Given the description of an element on the screen output the (x, y) to click on. 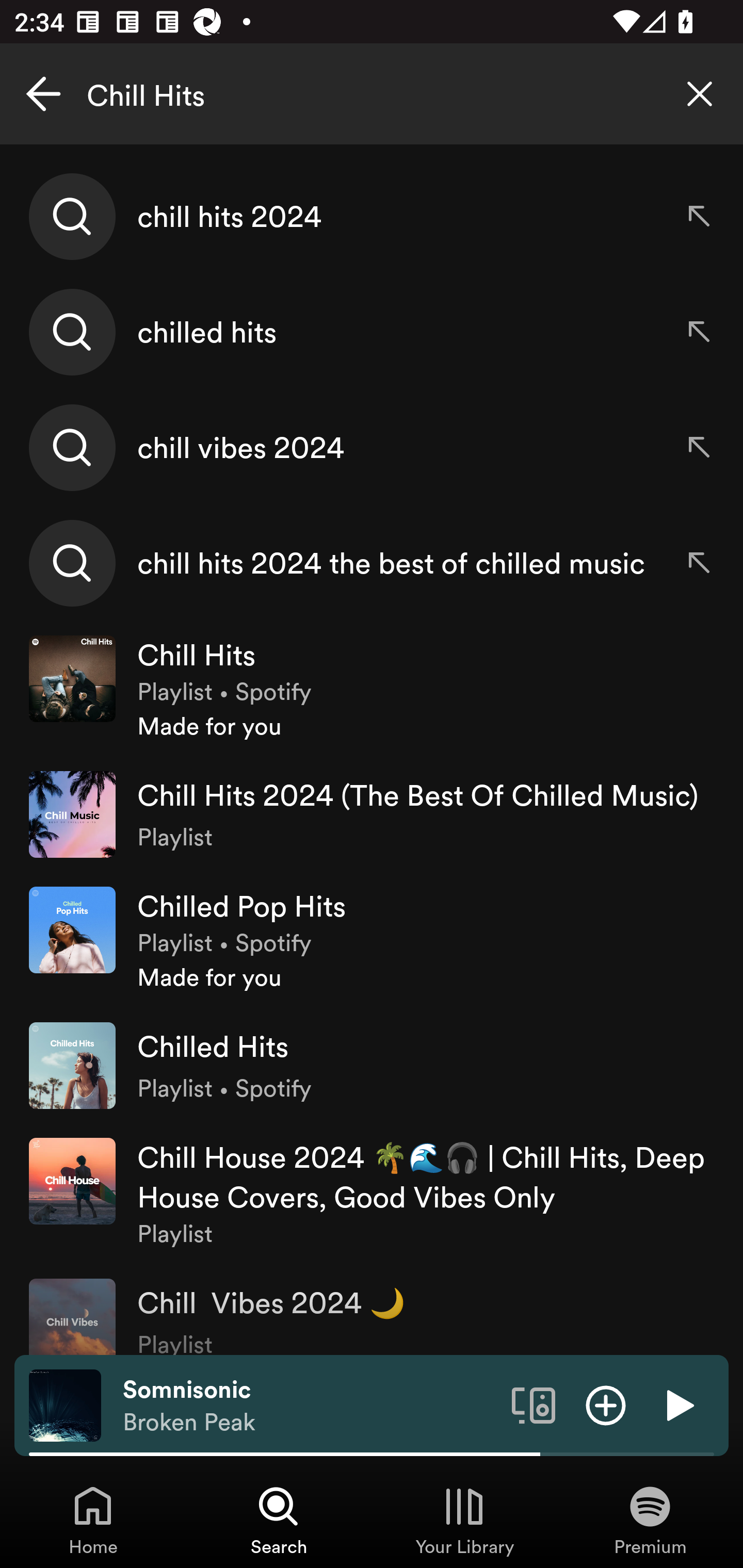
Chill Hits (371, 93)
Cancel (43, 93)
Clear search query (699, 93)
chill hits 2024 (371, 216)
chilled hits (371, 332)
chill vibes 2024 (371, 447)
chill hits 2024 the best of chilled music (371, 562)
Chill Hits Playlist • Spotify Made for you (371, 688)
Chilled Pop Hits Playlist • Spotify Made for you (371, 939)
Chilled Hits Playlist • Spotify (371, 1065)
Chill  Vibes 2024 🌙 Playlist (371, 1308)
Somnisonic Broken Peak (309, 1405)
The cover art of the currently playing track (64, 1404)
Connect to a device. Opens the devices menu (533, 1404)
Add item (605, 1404)
Play (677, 1404)
Home, Tab 1 of 4 Home Home (92, 1519)
Search, Tab 2 of 4 Search Search (278, 1519)
Your Library, Tab 3 of 4 Your Library Your Library (464, 1519)
Premium, Tab 4 of 4 Premium Premium (650, 1519)
